Given the description of an element on the screen output the (x, y) to click on. 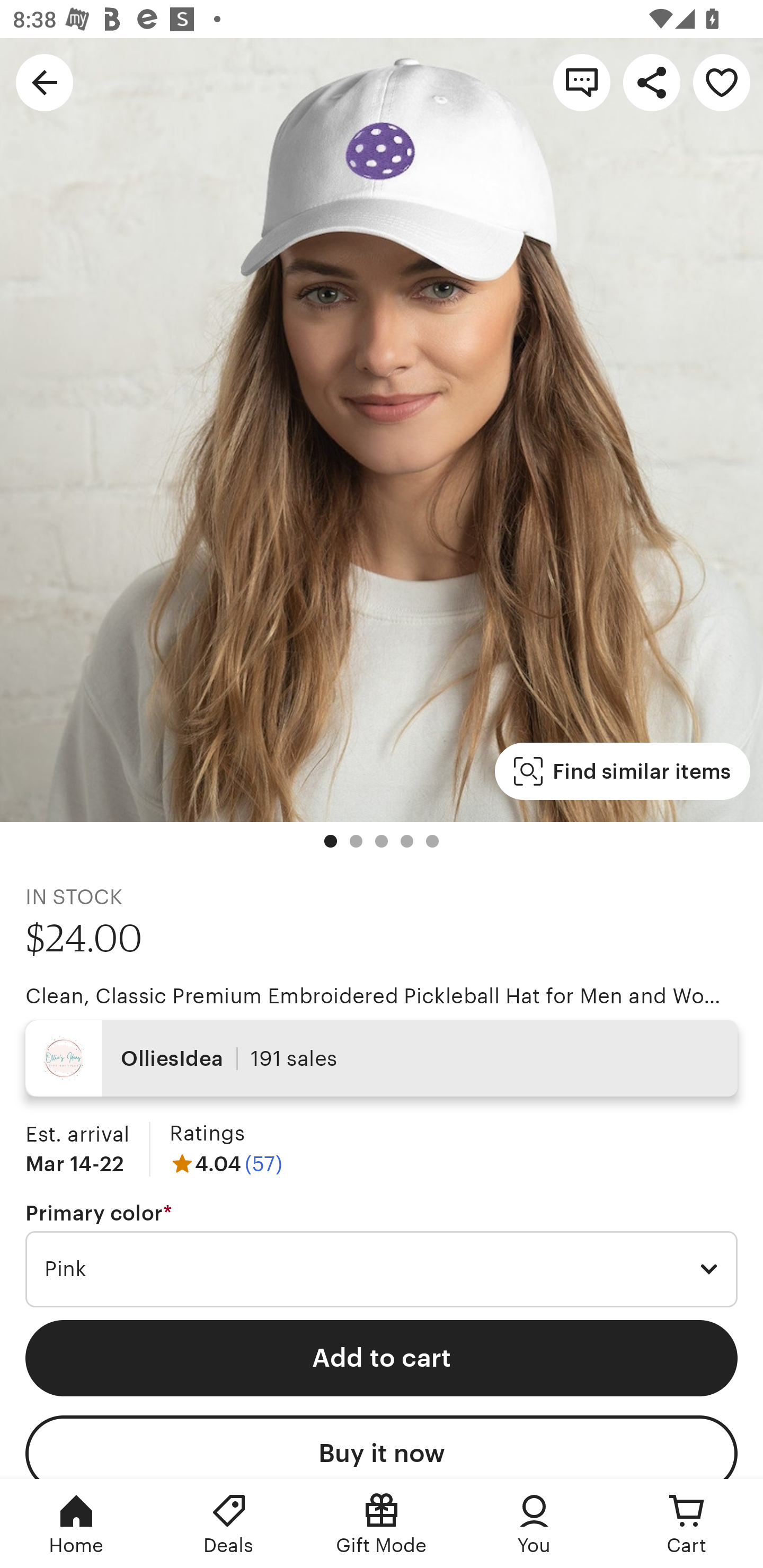
Navigate up (44, 81)
Contact shop (581, 81)
Share (651, 81)
Find similar items (622, 771)
OlliesIdea 191 sales (381, 1058)
Ratings (206, 1133)
4.04 (57) (226, 1163)
Primary color * Required Pink (381, 1254)
Pink (381, 1268)
Add to cart (381, 1358)
Buy it now (381, 1446)
Deals (228, 1523)
Gift Mode (381, 1523)
You (533, 1523)
Cart (686, 1523)
